Given the description of an element on the screen output the (x, y) to click on. 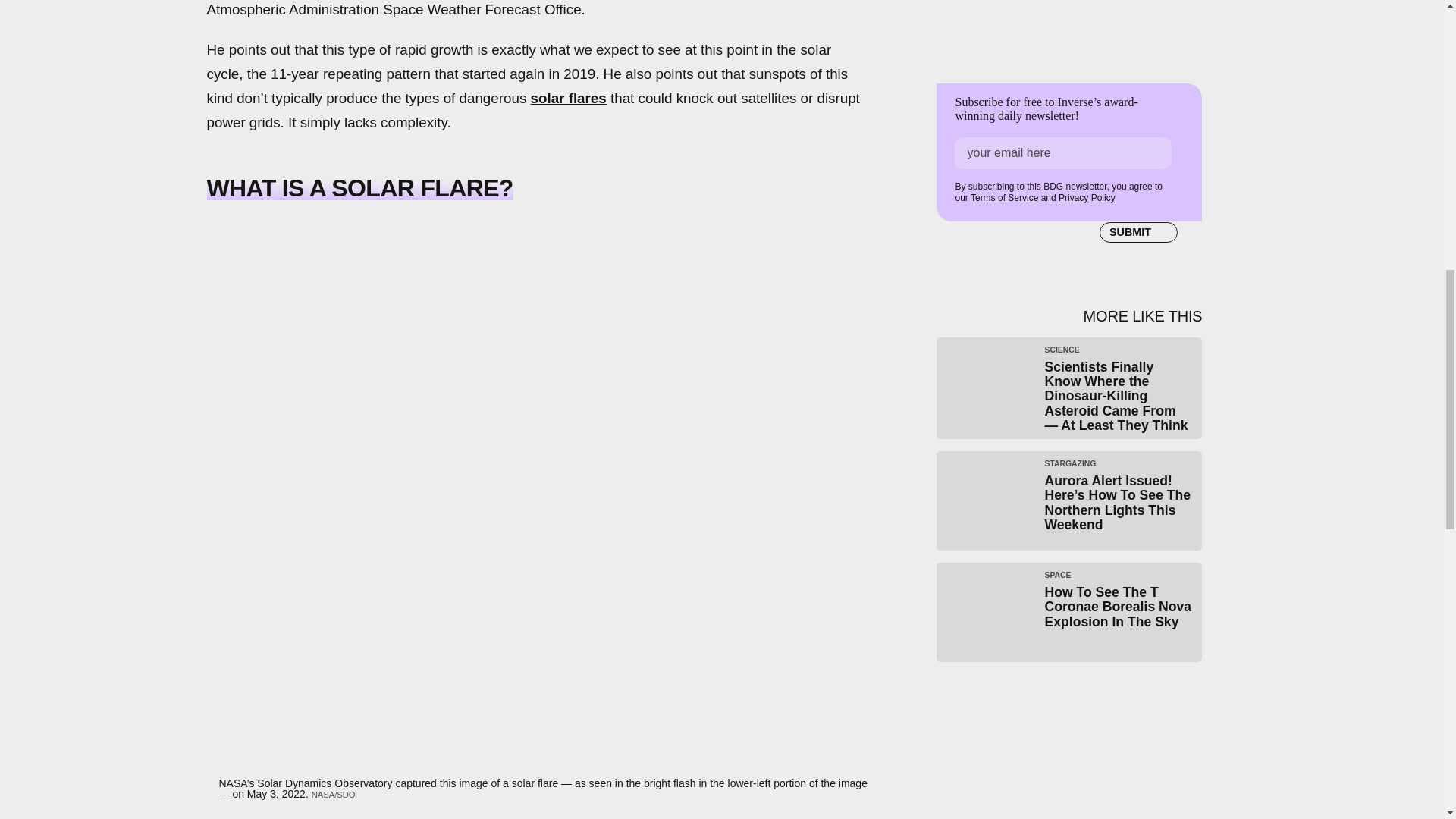
Terms of Service (1004, 197)
SUBMIT (1138, 232)
solar flares (569, 98)
Privacy Policy (1086, 197)
